Given the description of an element on the screen output the (x, y) to click on. 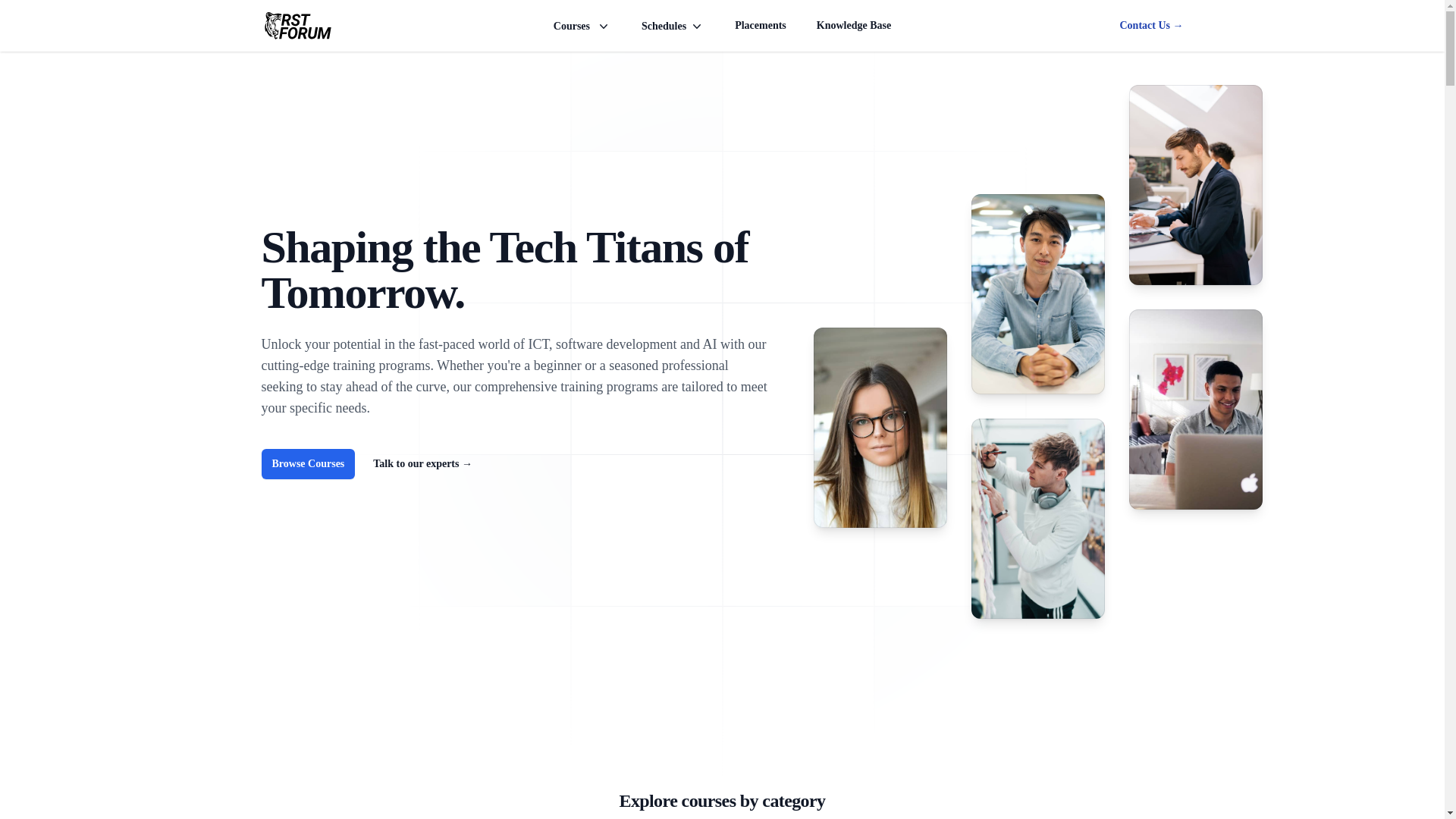
RSTForum (296, 25)
Browse Courses (307, 463)
Schedules (673, 25)
Knowledge Base (853, 26)
Placements (760, 26)
Courses (582, 25)
